Given the description of an element on the screen output the (x, y) to click on. 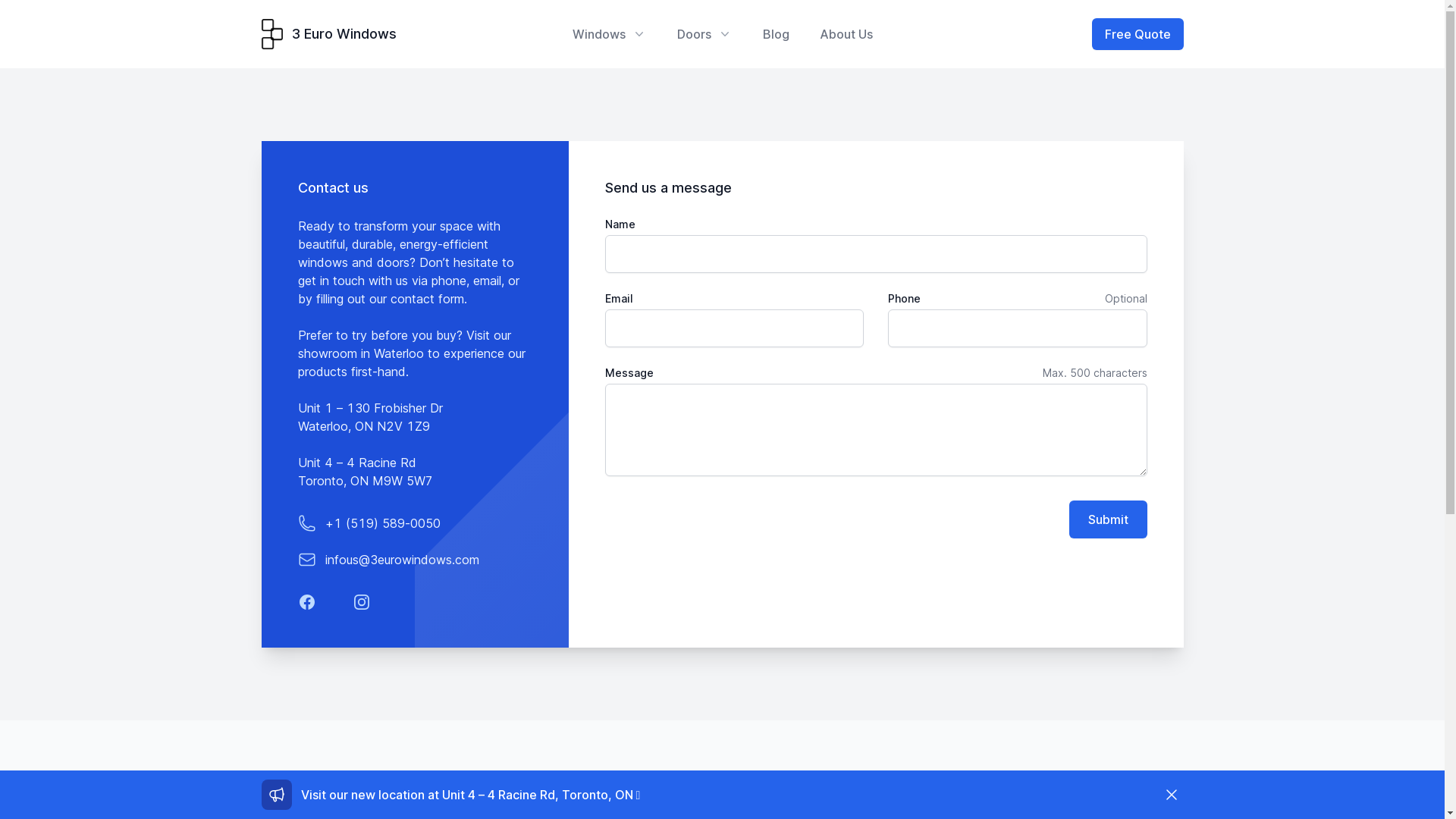
3 Euro Windows Element type: text (327, 33)
Free Quote Element type: text (1137, 34)
About Us Element type: text (845, 34)
Facebook Element type: text (306, 602)
Free Quote Element type: text (1134, 799)
Submit Element type: text (1108, 519)
+1 (519) 589-0050 Element type: text (381, 523)
Doors Element type: text (703, 34)
Windows Element type: text (608, 34)
Blog Element type: text (775, 34)
infous@3eurowindows.com Element type: text (401, 559)
Instagram Element type: text (360, 602)
Dismiss Element type: text (1170, 794)
